Given the description of an element on the screen output the (x, y) to click on. 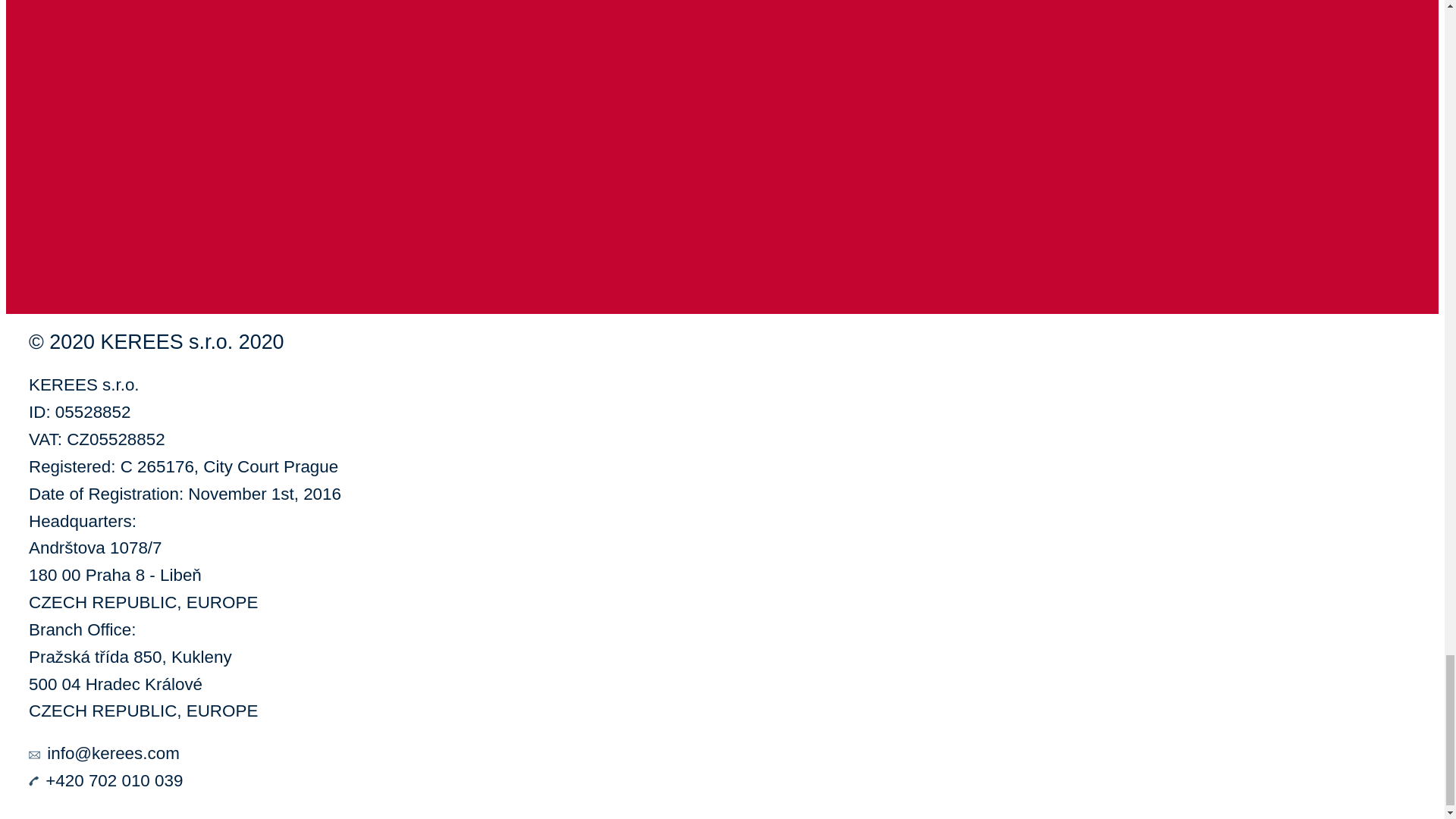
Send (38, 266)
